Given the description of an element on the screen output the (x, y) to click on. 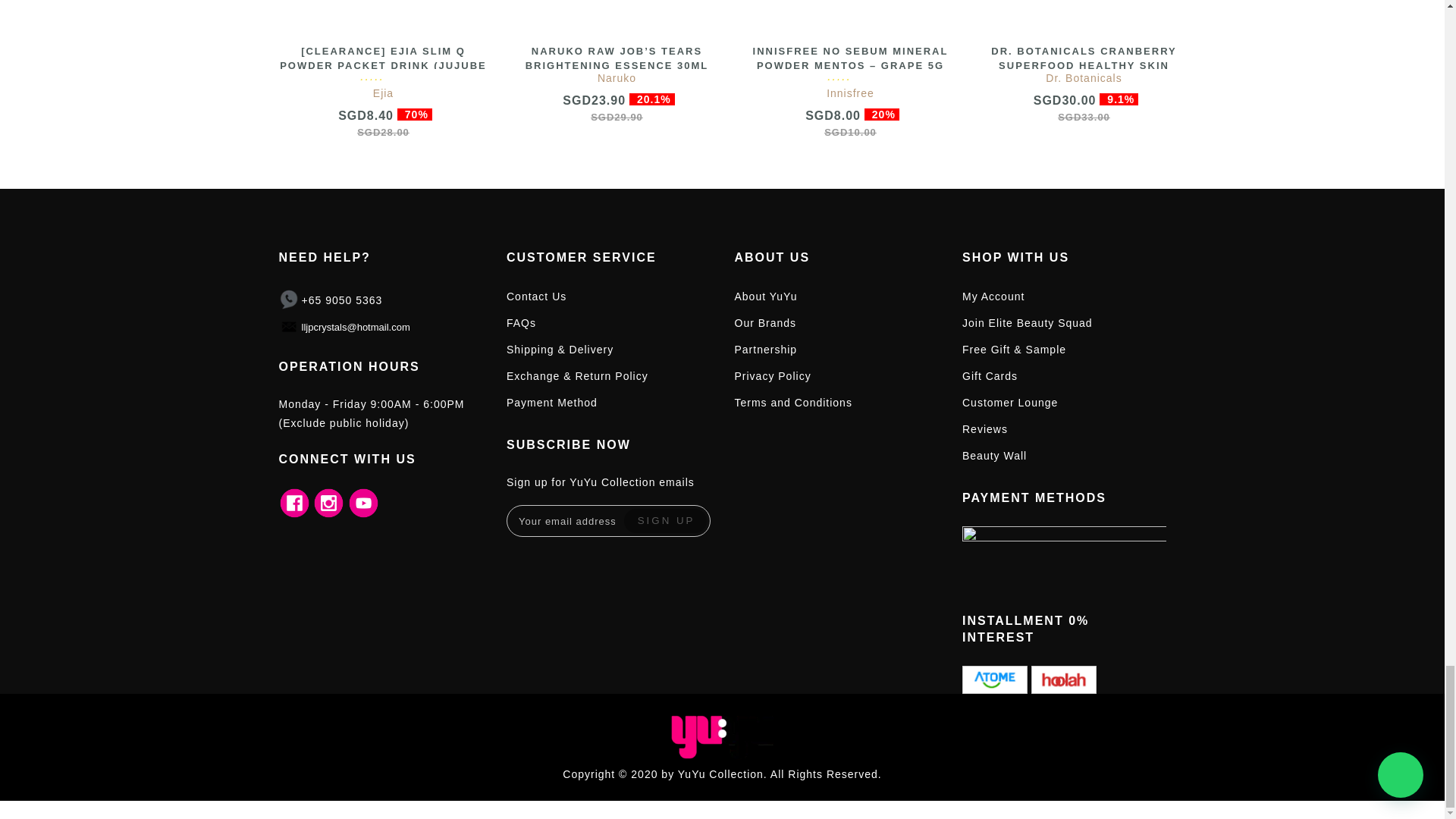
Sign up (665, 520)
